Given the description of an element on the screen output the (x, y) to click on. 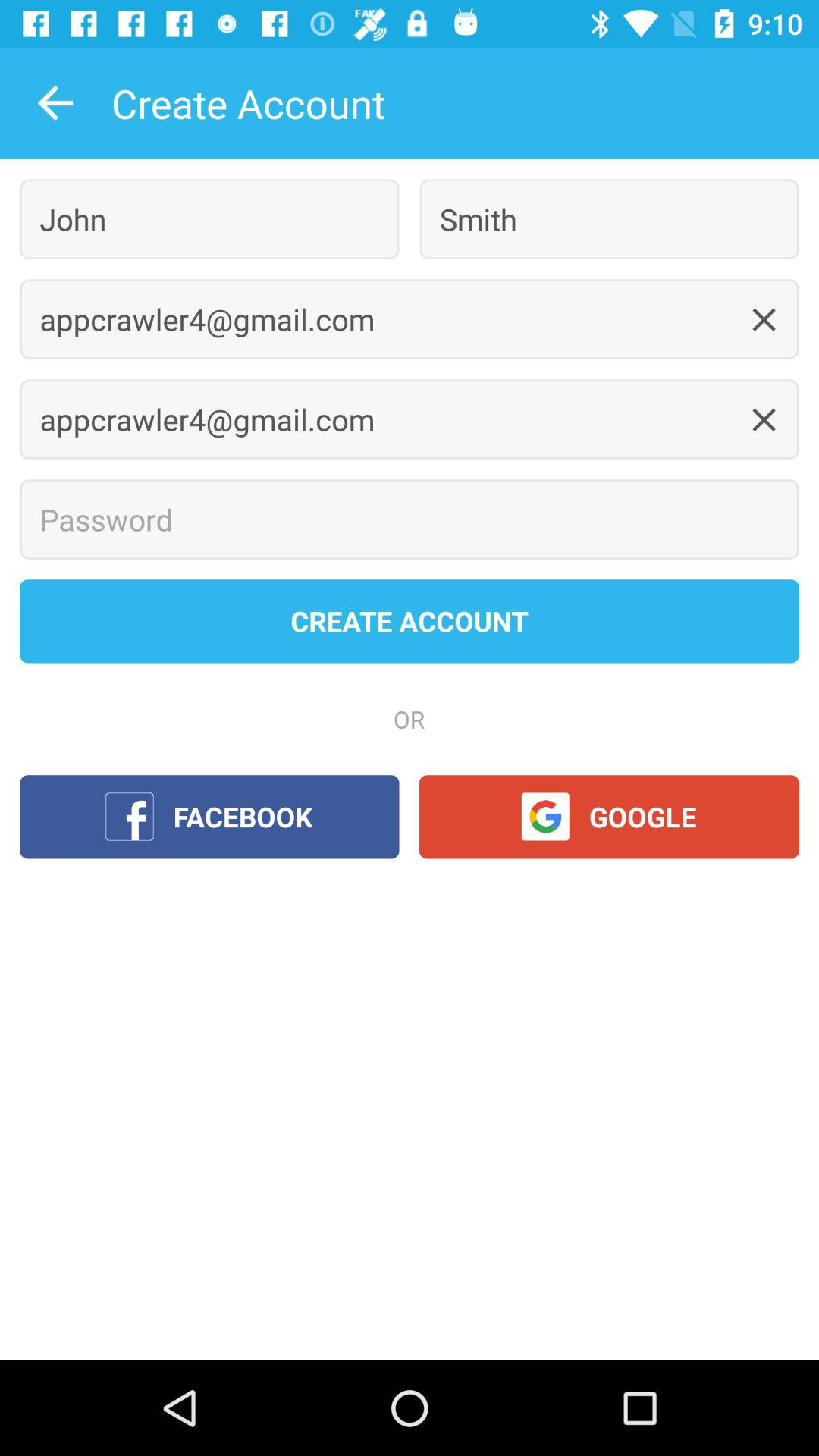
tap the icon next to the john icon (609, 219)
